Given the description of an element on the screen output the (x, y) to click on. 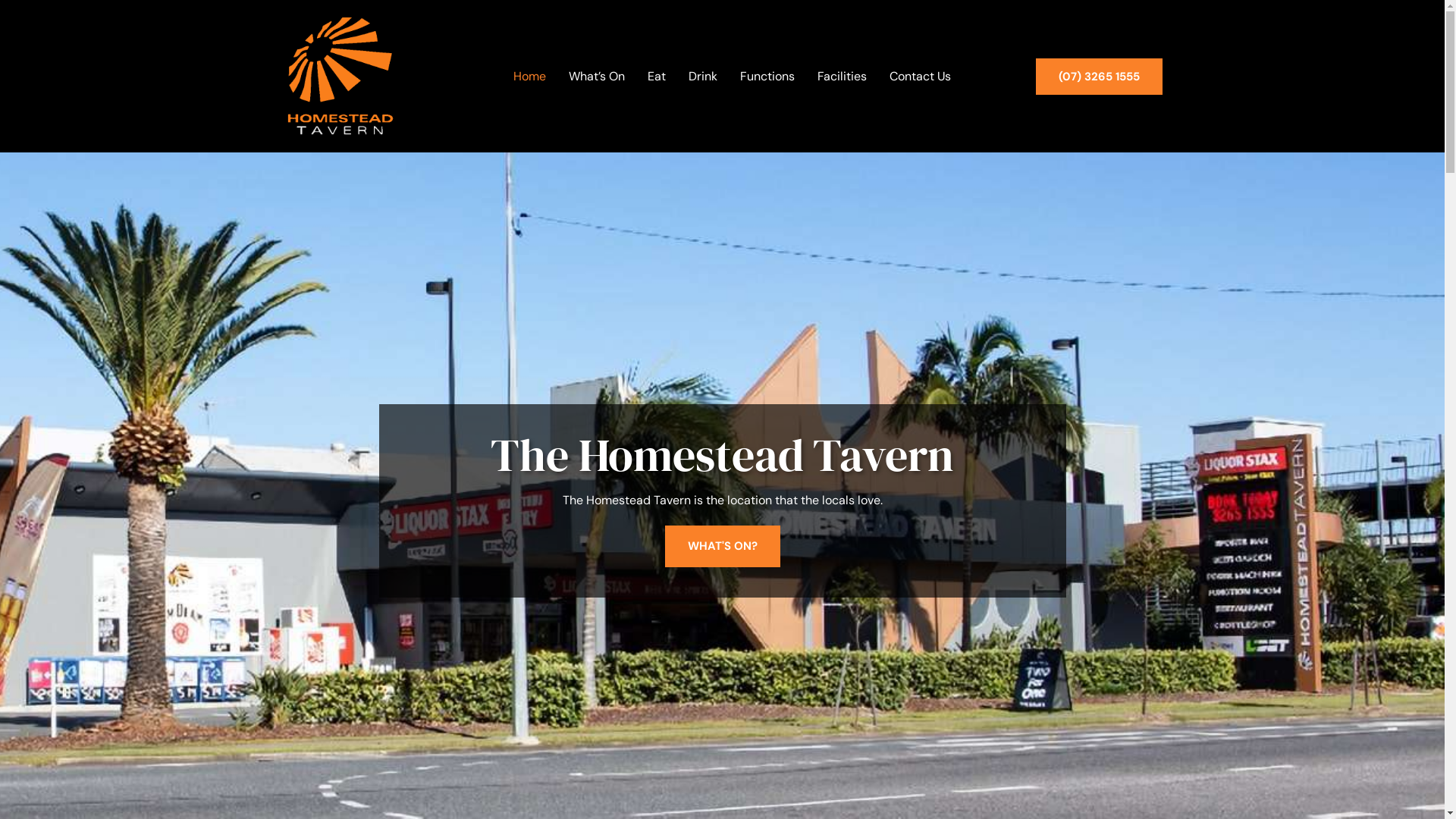
Eat Element type: text (656, 76)
Home Element type: text (528, 76)
Contact Us Element type: text (919, 76)
WHAT'S ON? Element type: text (721, 546)
Facilities Element type: text (841, 76)
Submit Element type: text (932, 582)
Submit Element type: text (619, 572)
Functions Element type: text (767, 76)
Drink Element type: text (702, 76)
(07) 3265 1555 Element type: text (1098, 76)
